Given the description of an element on the screen output the (x, y) to click on. 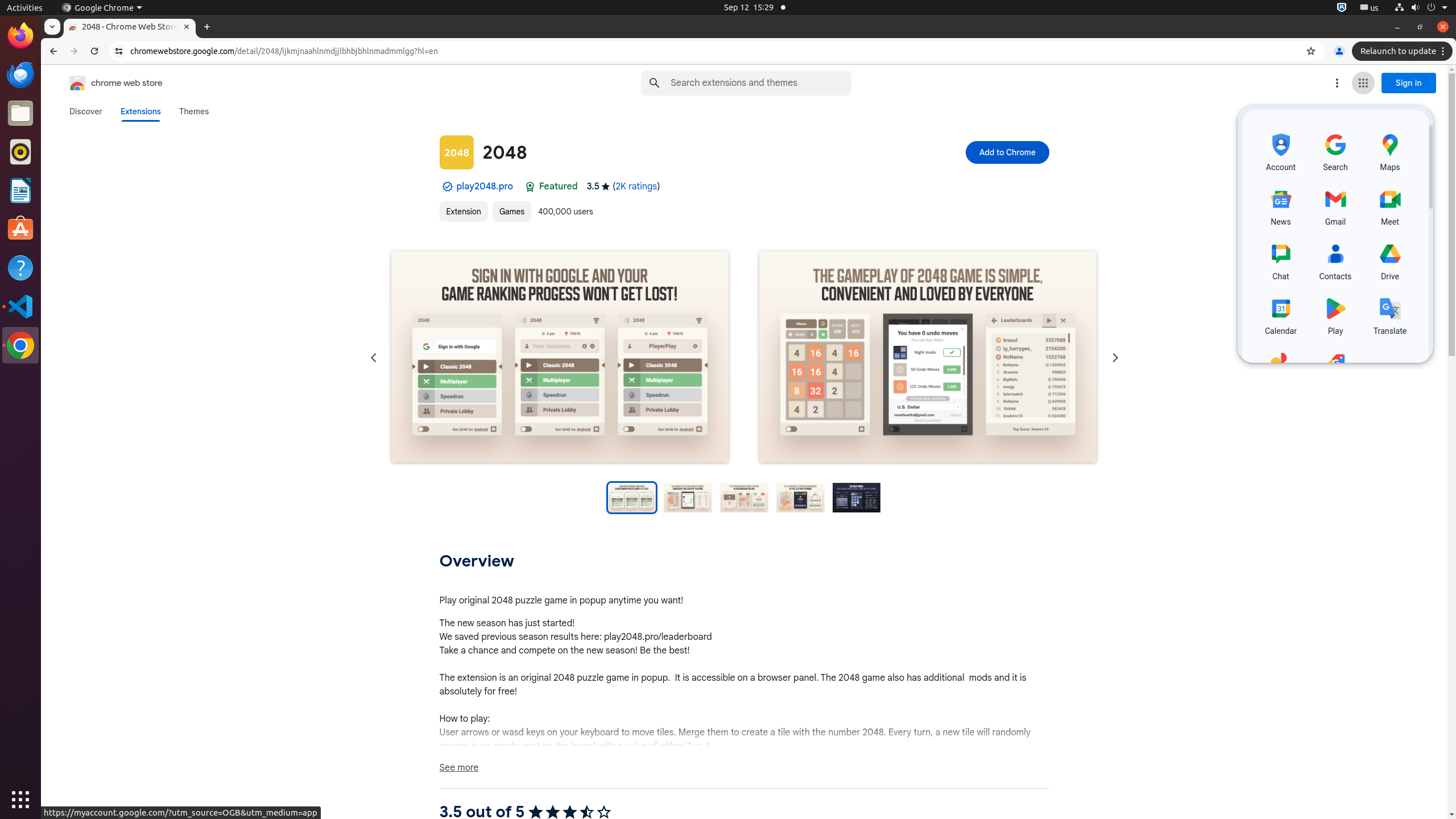
Photos, row 5 of 5 and column 1 of 3 in the first section (opens a new tab) Element type: link (1280, 369)
News, row 2 of 5 and column 1 of 3 in the first section (opens a new tab) Element type: link (1280, 205)
:1.72/StatusNotifierItem Element type: menu (1341, 7)
Themes Element type: page-tab (193, 111)
Google Chrome Element type: push-button (20, 344)
